Given the description of an element on the screen output the (x, y) to click on. 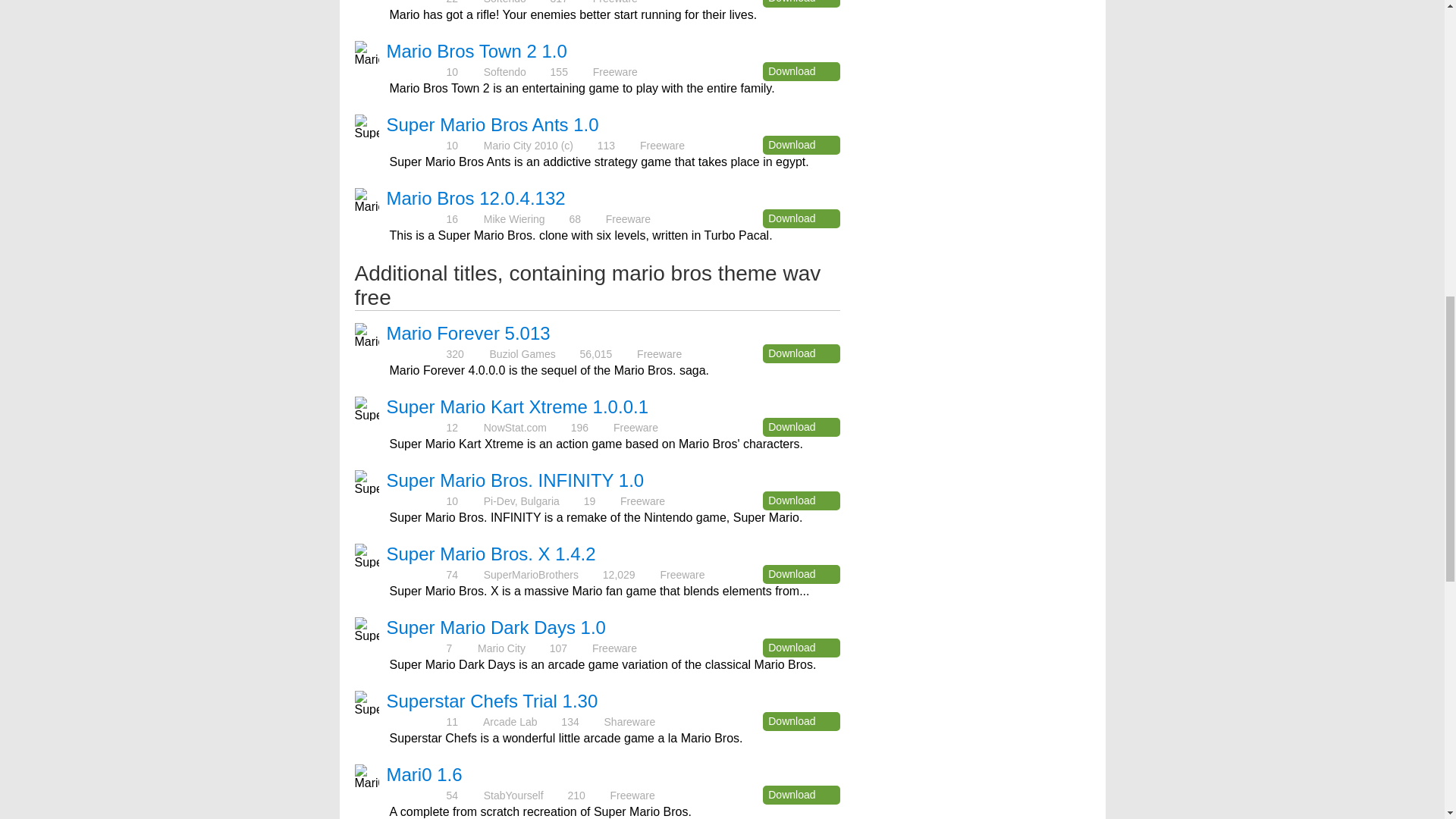
Super Mario Bros Ants 1.0 (492, 124)
Mario Bros Town 2 1.0 (477, 50)
4.4 (415, 218)
Mario Bros 12.0.4.132 (476, 198)
4.3 (415, 144)
Download (801, 218)
Super Mario Kart Xtreme 1.0.0.1 (518, 406)
Download (801, 3)
Download (801, 647)
Mario Bros Town 2 1.0 (477, 50)
